Given the description of an element on the screen output the (x, y) to click on. 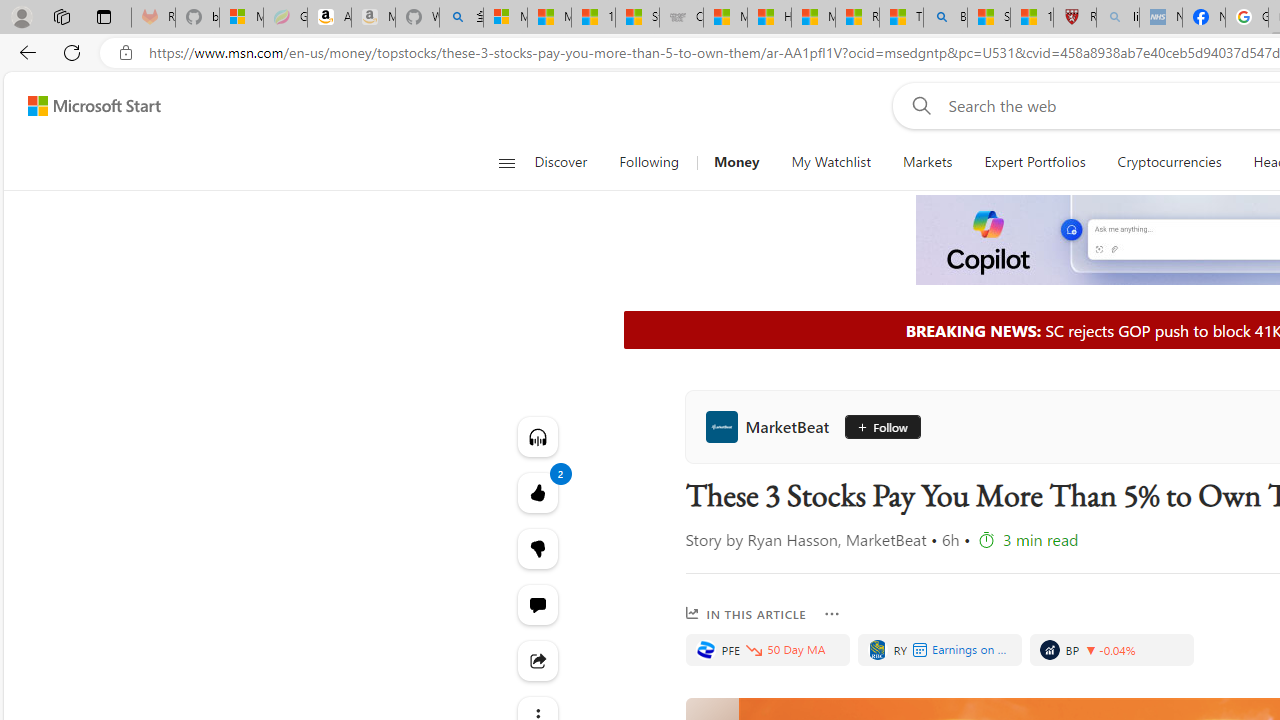
My Watchlist (830, 162)
Markets (926, 162)
Recipes - MSN (857, 17)
12 Popular Science Lies that Must be Corrected (1032, 17)
How I Got Rid of Microsoft Edge's Unnecessary Features (769, 17)
